Given the description of an element on the screen output the (x, y) to click on. 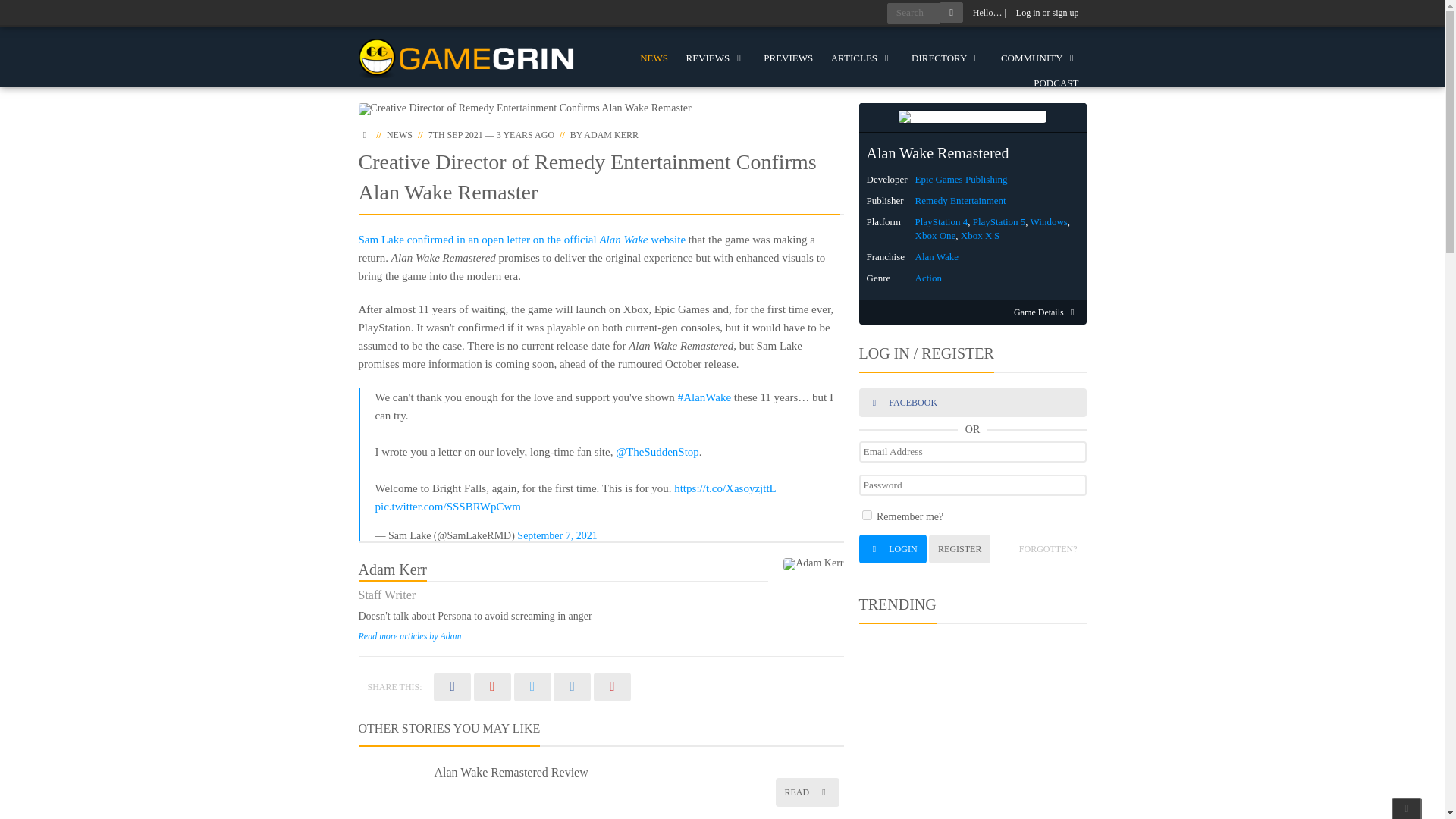
DIRECTORY (947, 57)
COMMUNITY (1039, 57)
REVIEWS (716, 57)
ARTICLES (862, 57)
Log in or sign up (1047, 13)
PODCAST (1056, 82)
1 (865, 515)
September 7, 2021 (556, 535)
Email Address (972, 451)
